Given the description of an element on the screen output the (x, y) to click on. 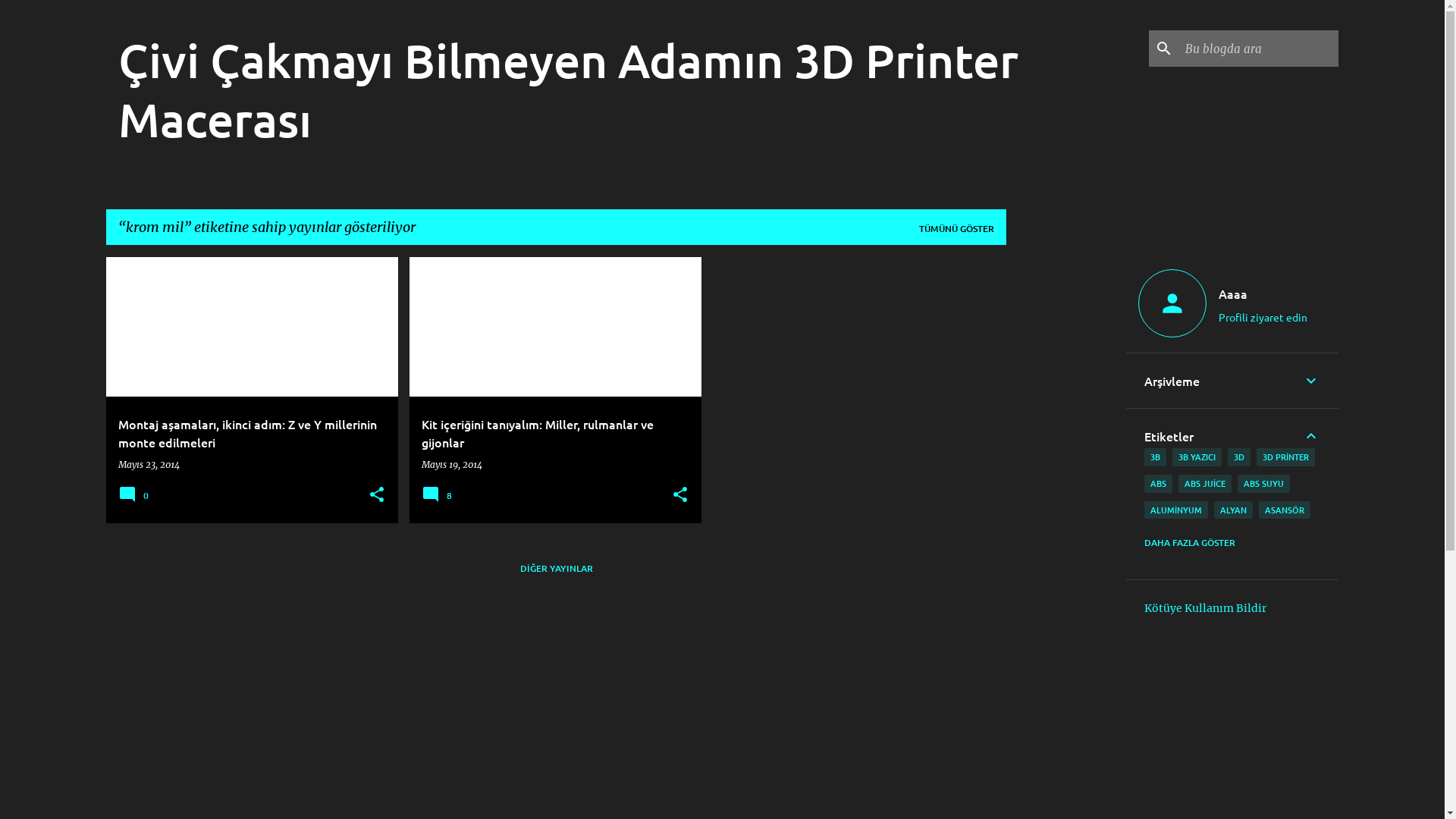
3B Element type: text (1155, 457)
ABS SUYU Element type: text (1263, 483)
ABS Element type: text (1158, 483)
ALUMINYUM Element type: text (1176, 509)
0 Element type: text (135, 499)
3B YAZICI Element type: text (1196, 457)
Profili ziyaret edin Element type: text (1262, 316)
ALYAN Element type: text (1233, 509)
3D Element type: text (1238, 457)
Advertisement Element type: hover (1065, 484)
8 Element type: text (438, 499)
3D PRINTER Element type: text (1285, 457)
Aaaa Element type: text (1262, 293)
ABS JUICE Element type: text (1204, 483)
